Given the description of an element on the screen output the (x, y) to click on. 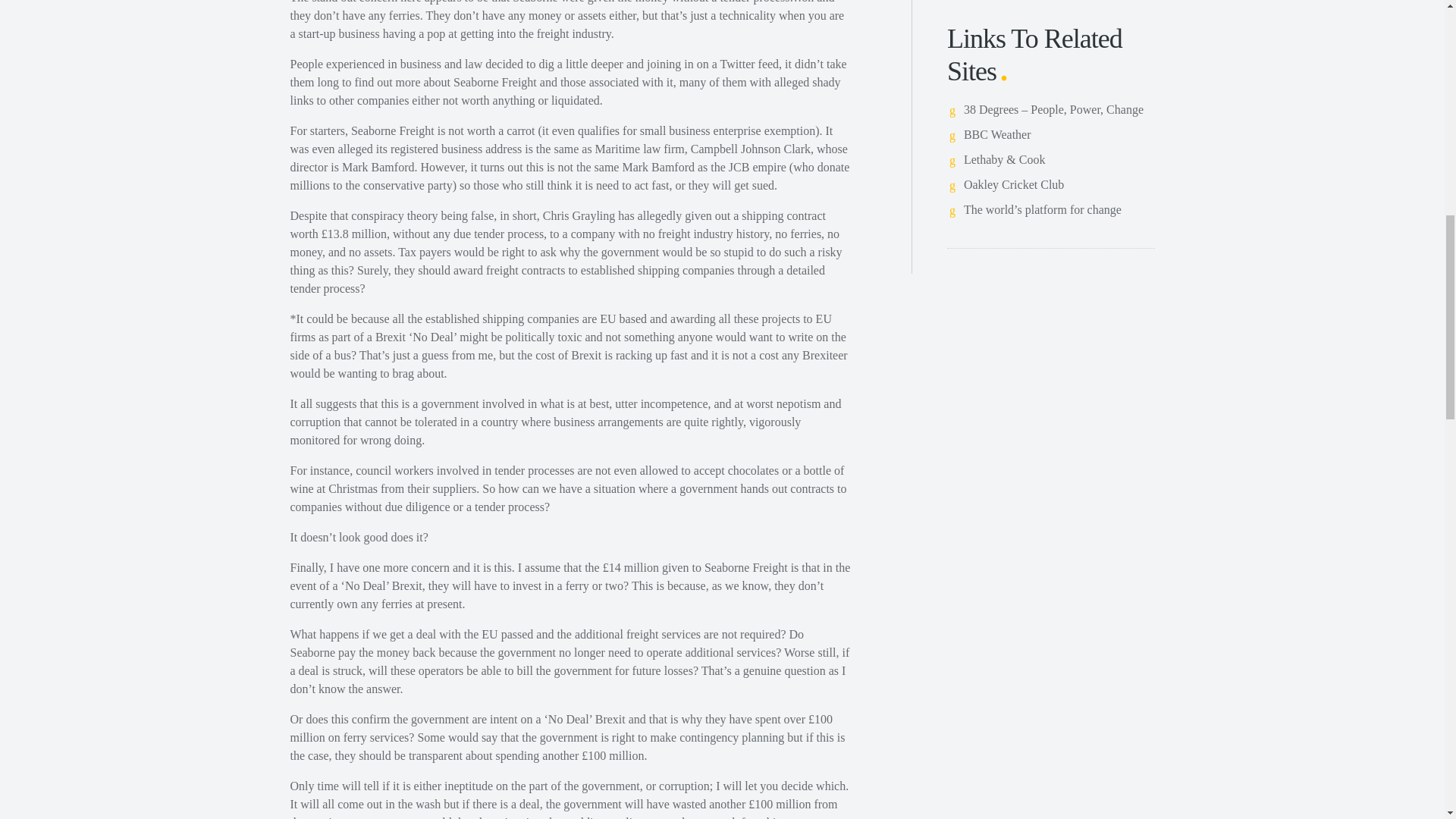
100 Years of Cricket in North Hampshire (1013, 184)
BBC Weather (996, 133)
Oakley Cricket Club (1013, 184)
In depth national and international weather forecast (996, 133)
